Given the description of an element on the screen output the (x, y) to click on. 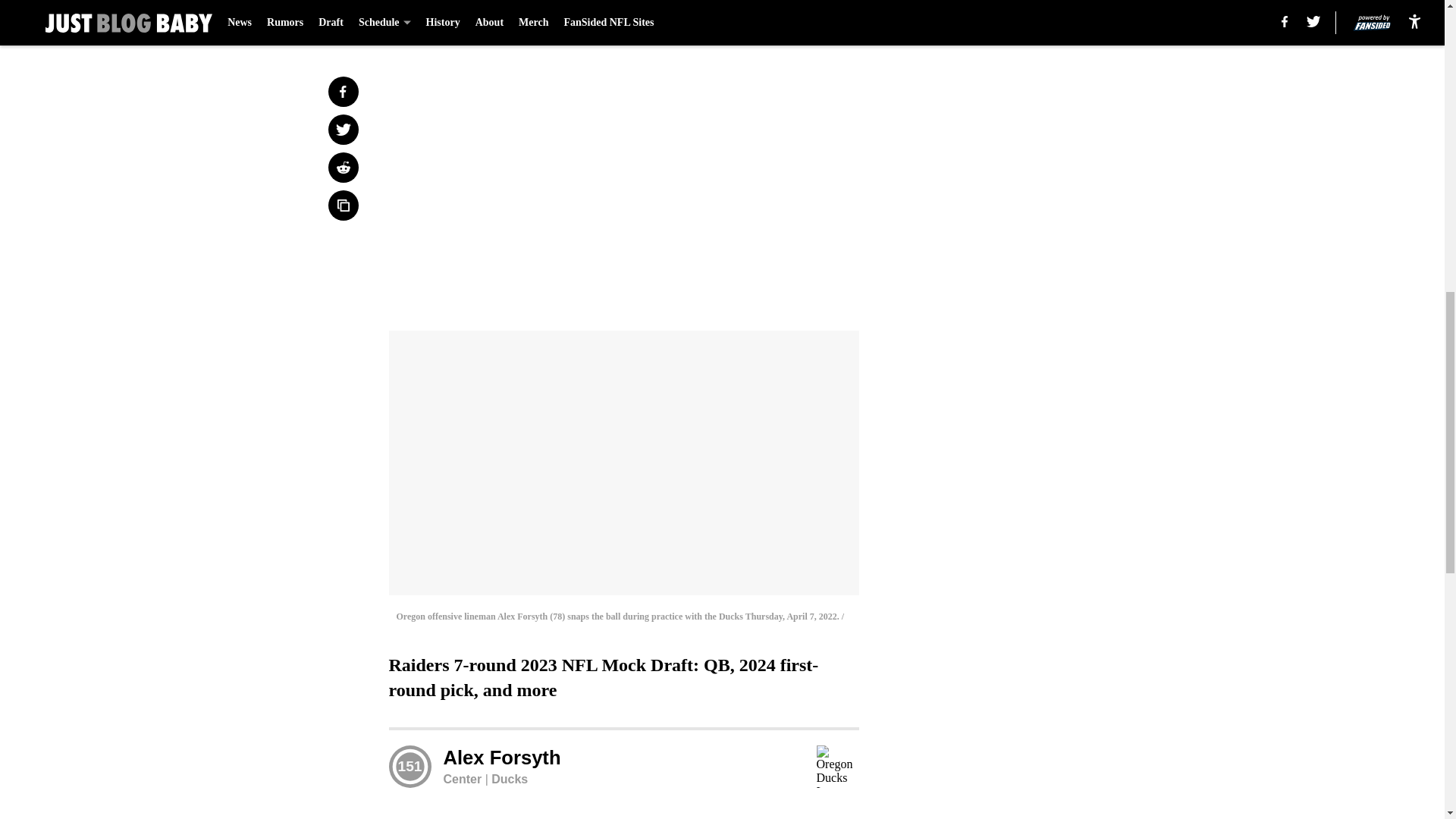
Next (813, 20)
Prev (433, 20)
